Given the description of an element on the screen output the (x, y) to click on. 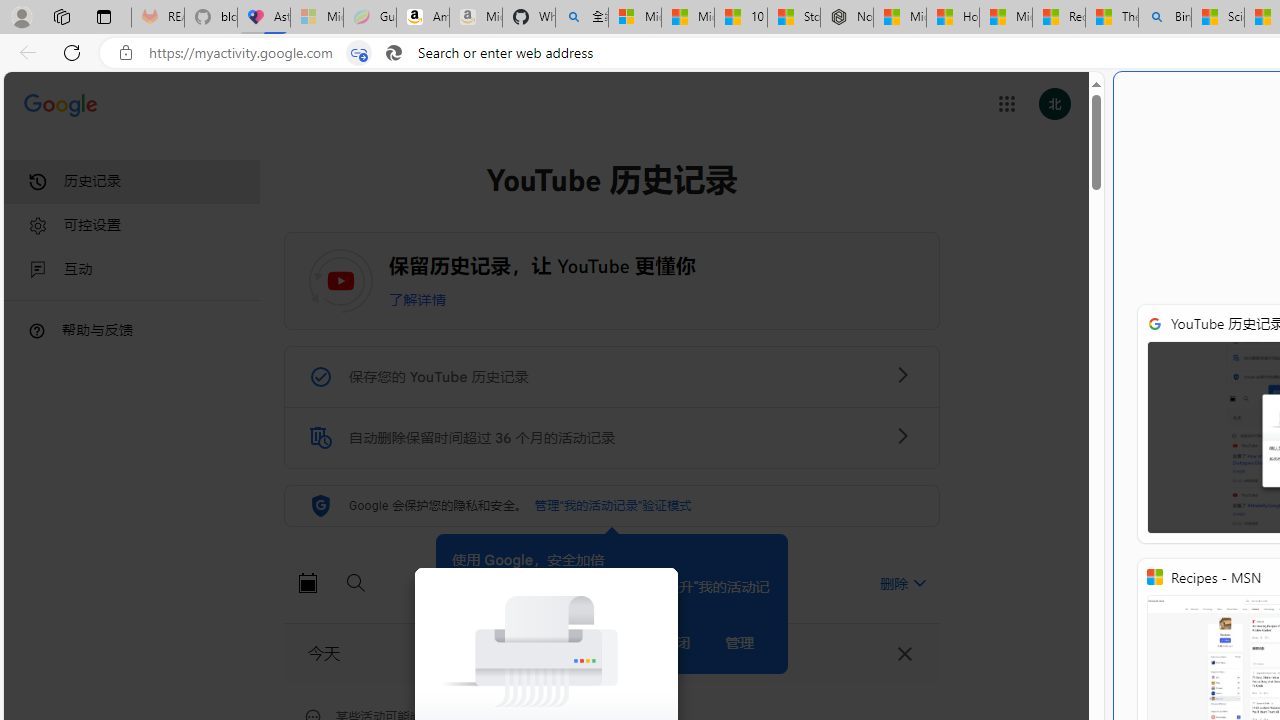
Tabs in split screen (358, 53)
